Given the description of an element on the screen output the (x, y) to click on. 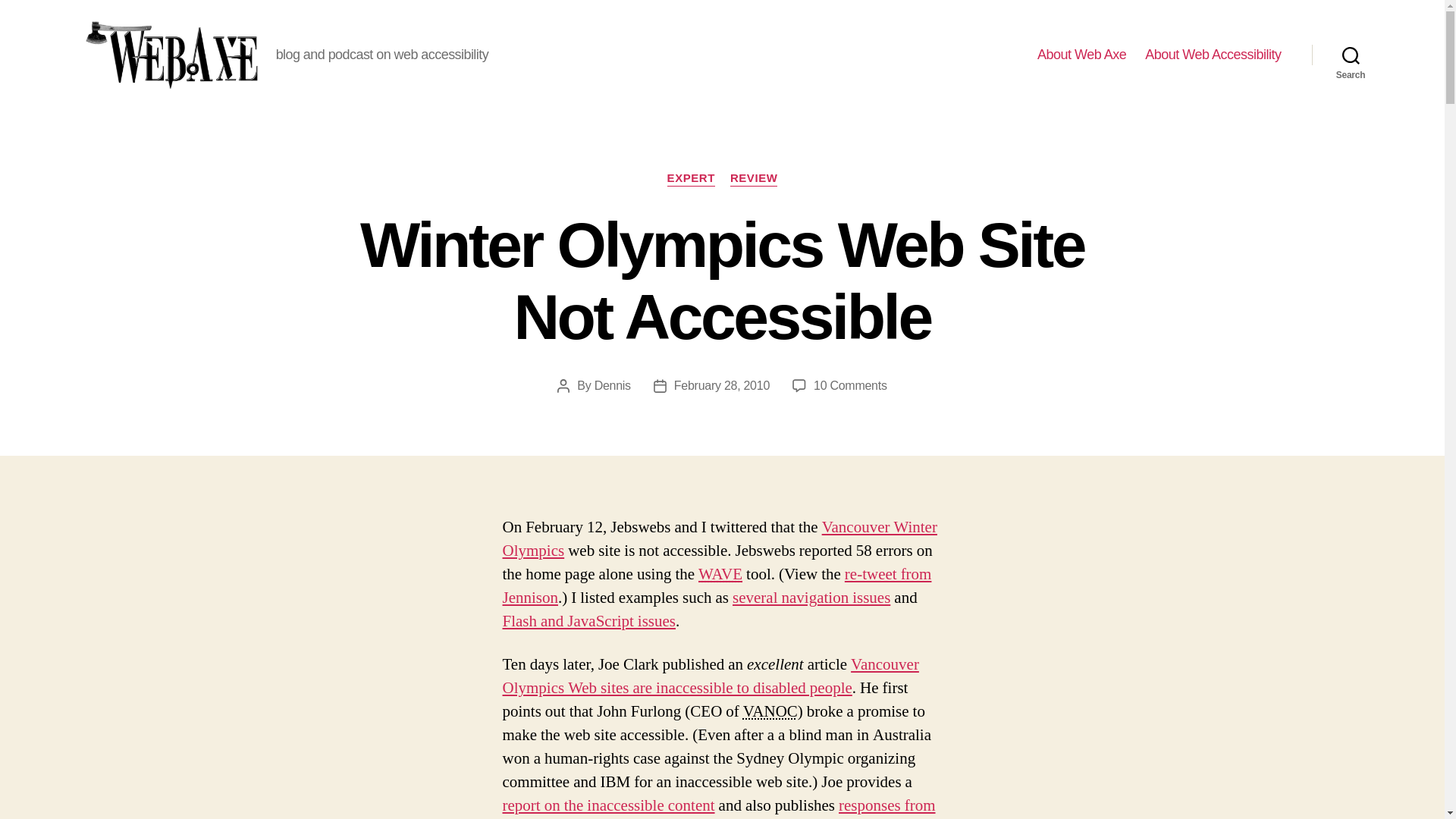
report on the inaccessible content (608, 805)
REVIEW (753, 178)
Search (1350, 55)
WAVE (720, 574)
re-tweet from Jennison (716, 586)
EXPERT (690, 178)
several navigation issues (810, 598)
Vancouver Winter Olympics (719, 538)
About Web Axe (1080, 54)
Vancouver Olympic Organizing Committee (769, 711)
Flash and JavaScript issues (588, 620)
About Web Accessibility (849, 385)
Dennis (1212, 54)
